Given the description of an element on the screen output the (x, y) to click on. 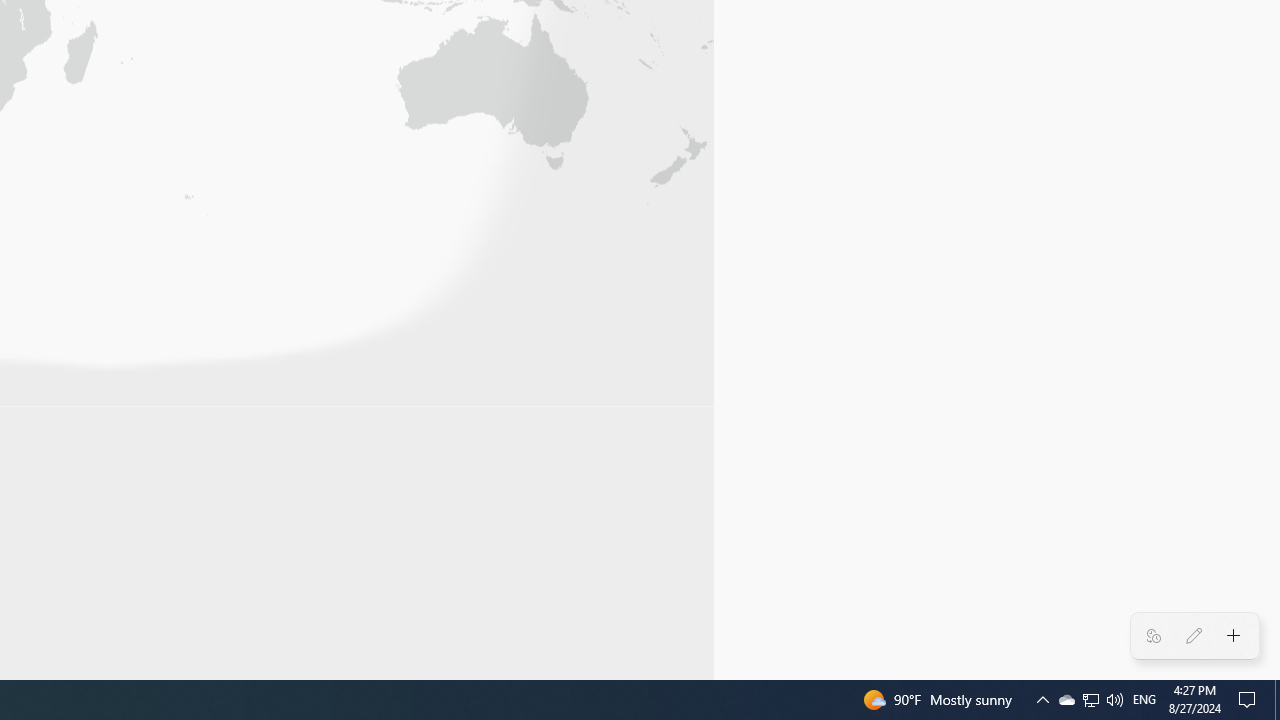
Add a new city (1233, 636)
Compare Time (1153, 636)
Edit Clocks (1193, 636)
